Given the description of an element on the screen output the (x, y) to click on. 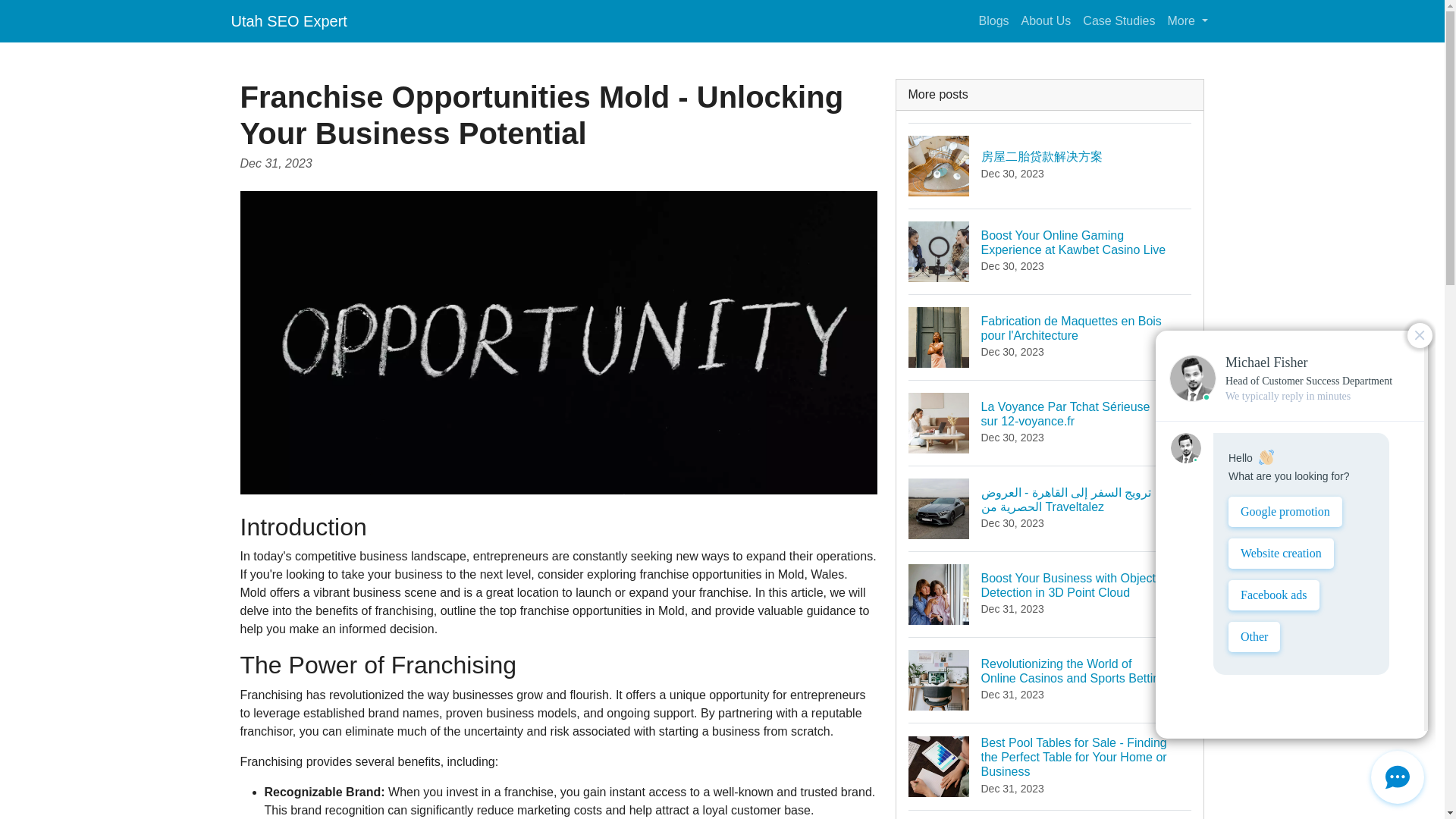
About Us (1045, 20)
Case Studies (1118, 20)
Blogs (993, 20)
Utah SEO Expert (288, 20)
More (1187, 20)
